Given the description of an element on the screen output the (x, y) to click on. 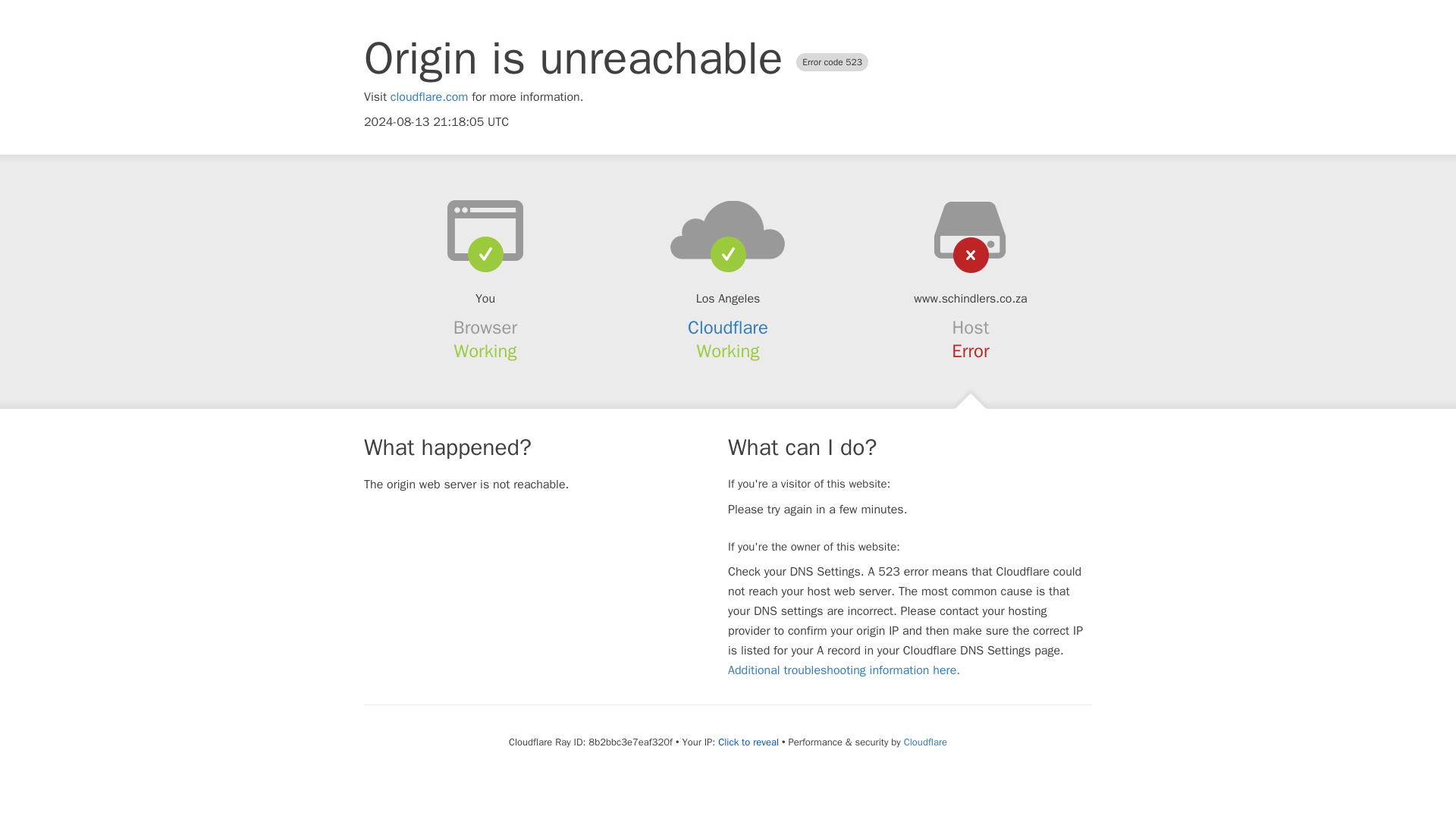
cloudflare.com (429, 96)
Click to reveal (747, 742)
Cloudflare (727, 327)
Cloudflare (925, 741)
Additional troubleshooting information here. (843, 670)
